Given the description of an element on the screen output the (x, y) to click on. 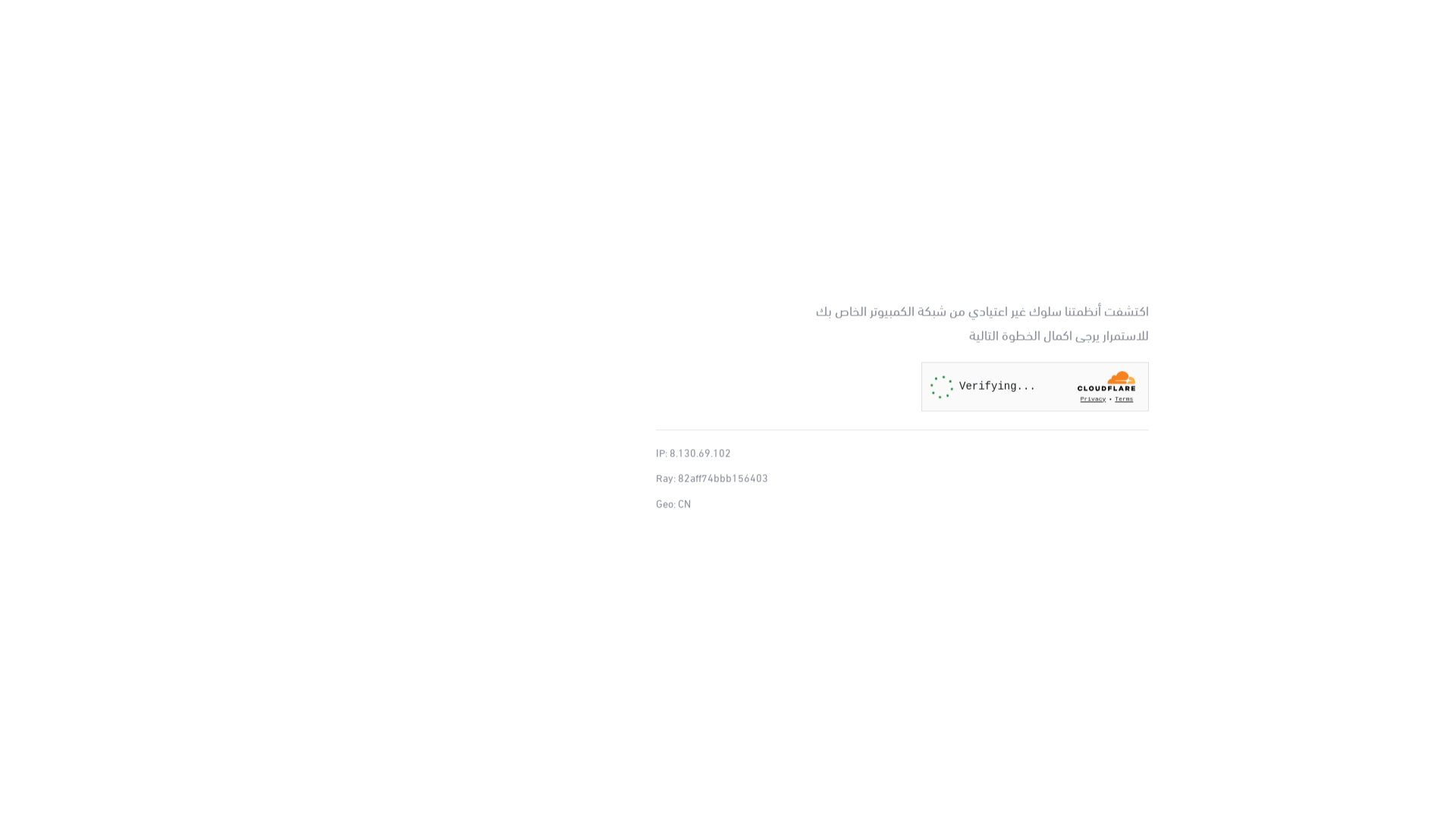
Widget containing a Cloudflare security challenge Element type: hover (1034, 386)
